Given the description of an element on the screen output the (x, y) to click on. 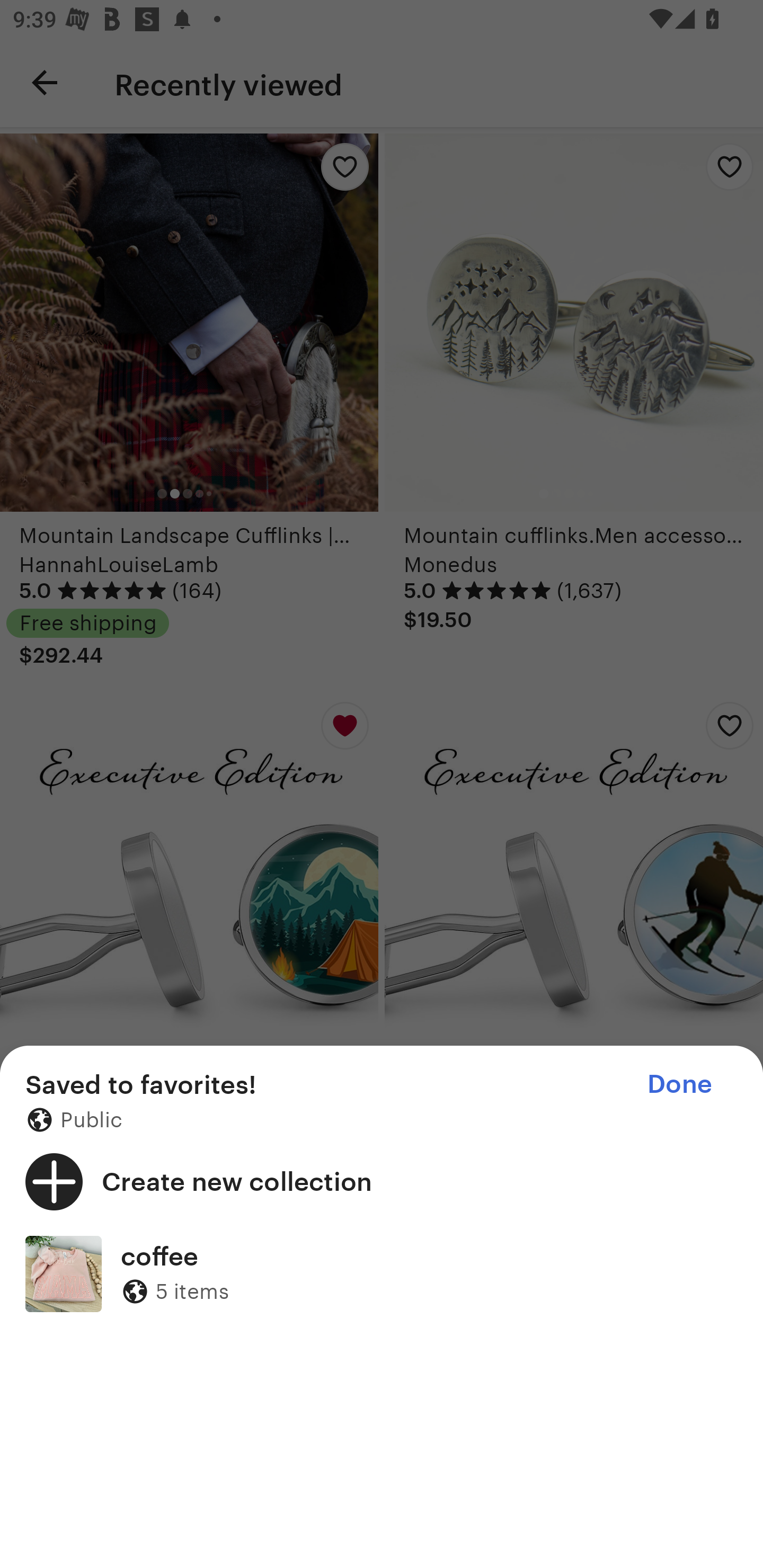
Done (679, 1083)
Create new collection (381, 1181)
coffee 5 items (381, 1273)
